Given the description of an element on the screen output the (x, y) to click on. 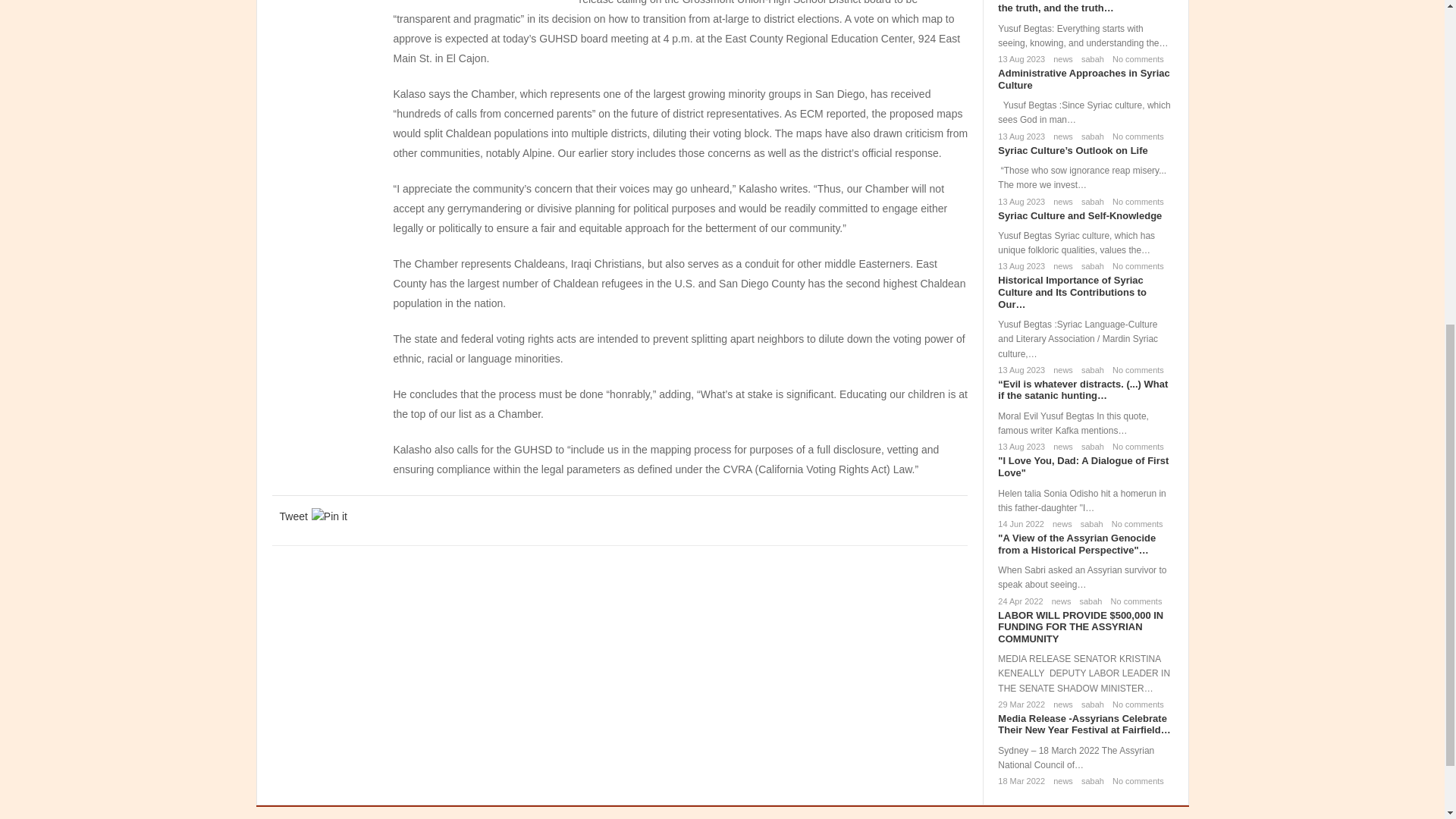
Administrative Approaches in Syriac Culture (1083, 78)
I Love You, Dad: A Dialogue of First Love (1083, 466)
Tweet (293, 515)
Pin it (329, 515)
